Given the description of an element on the screen output the (x, y) to click on. 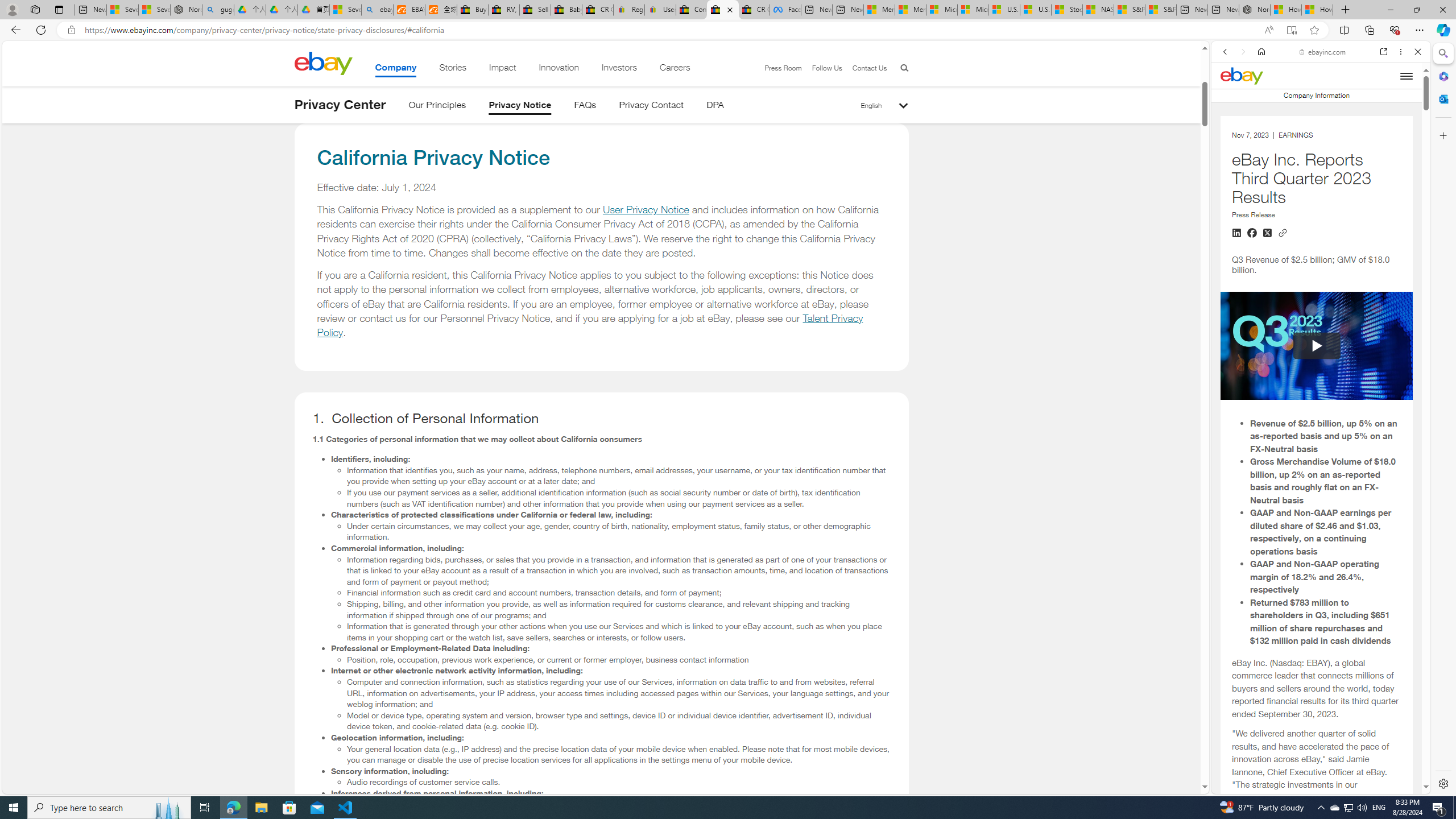
AutomationID: Group_1_1_ (1316, 345)
Menu (1406, 75)
S&P 500, Nasdaq end lower, weighed by Nvidia dip | Watch (1160, 9)
Sell worldwide with eBay (535, 9)
